Given the description of an element on the screen output the (x, y) to click on. 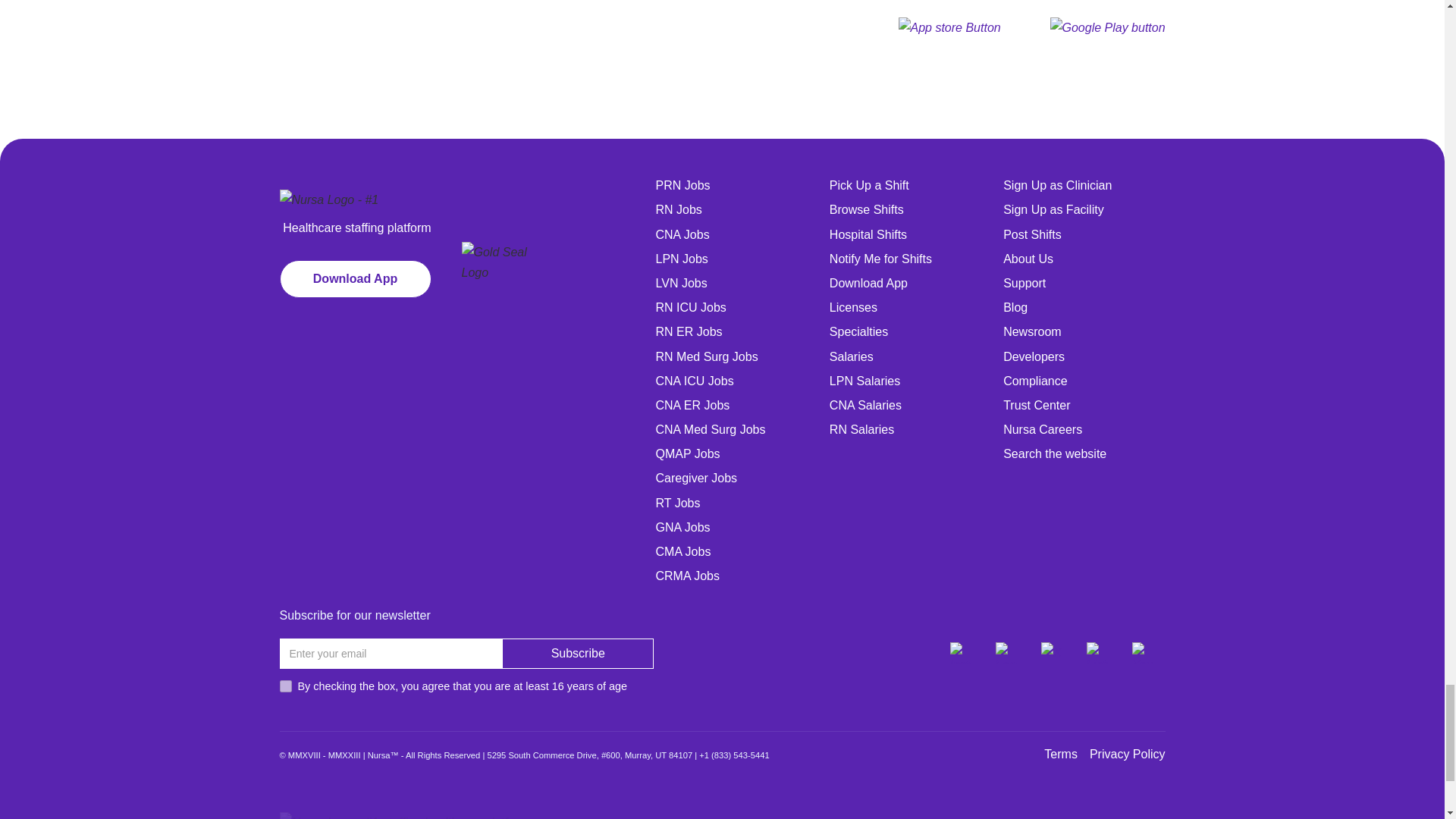
on (285, 686)
Subscribe (577, 653)
